Given the description of an element on the screen output the (x, y) to click on. 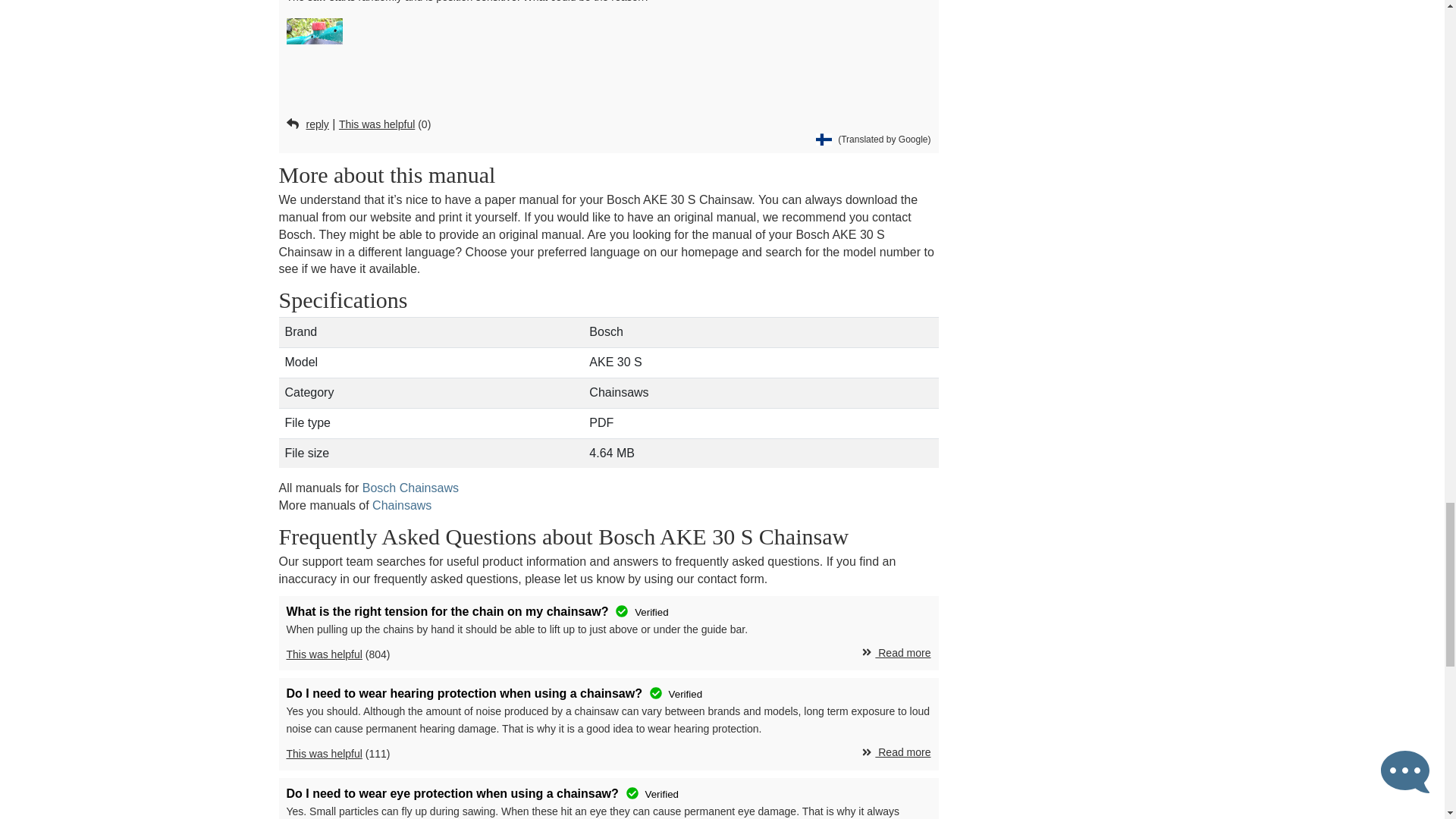
Chainsaws (401, 504)
Bosch Chainsaws (410, 487)
 Read more (895, 752)
 Read more (895, 653)
Bosch Chainsaws (410, 487)
Chainsaws (401, 504)
